Given the description of an element on the screen output the (x, y) to click on. 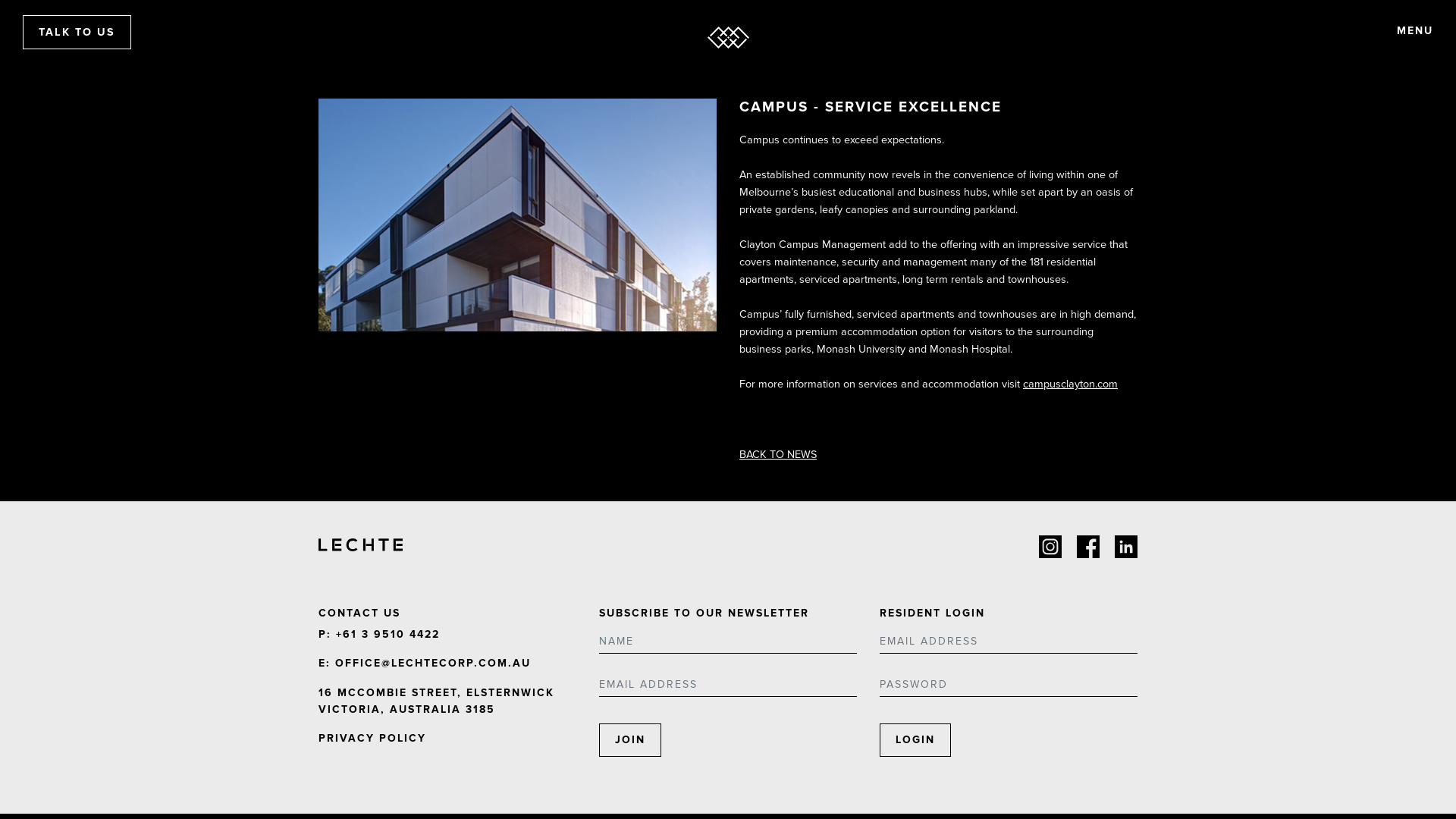
BACK TO NEWS Element type: text (777, 454)
LOGIN Element type: text (914, 739)
TALK TO US Element type: text (76, 32)
OFFICE@LECHTECORP.COM.AU Element type: text (432, 662)
MENU Element type: text (1414, 30)
campusclayton.com Element type: text (1069, 383)
JOIN Element type: text (630, 739)
PRIVACY POLICY Element type: text (372, 737)
